Given the description of an element on the screen output the (x, y) to click on. 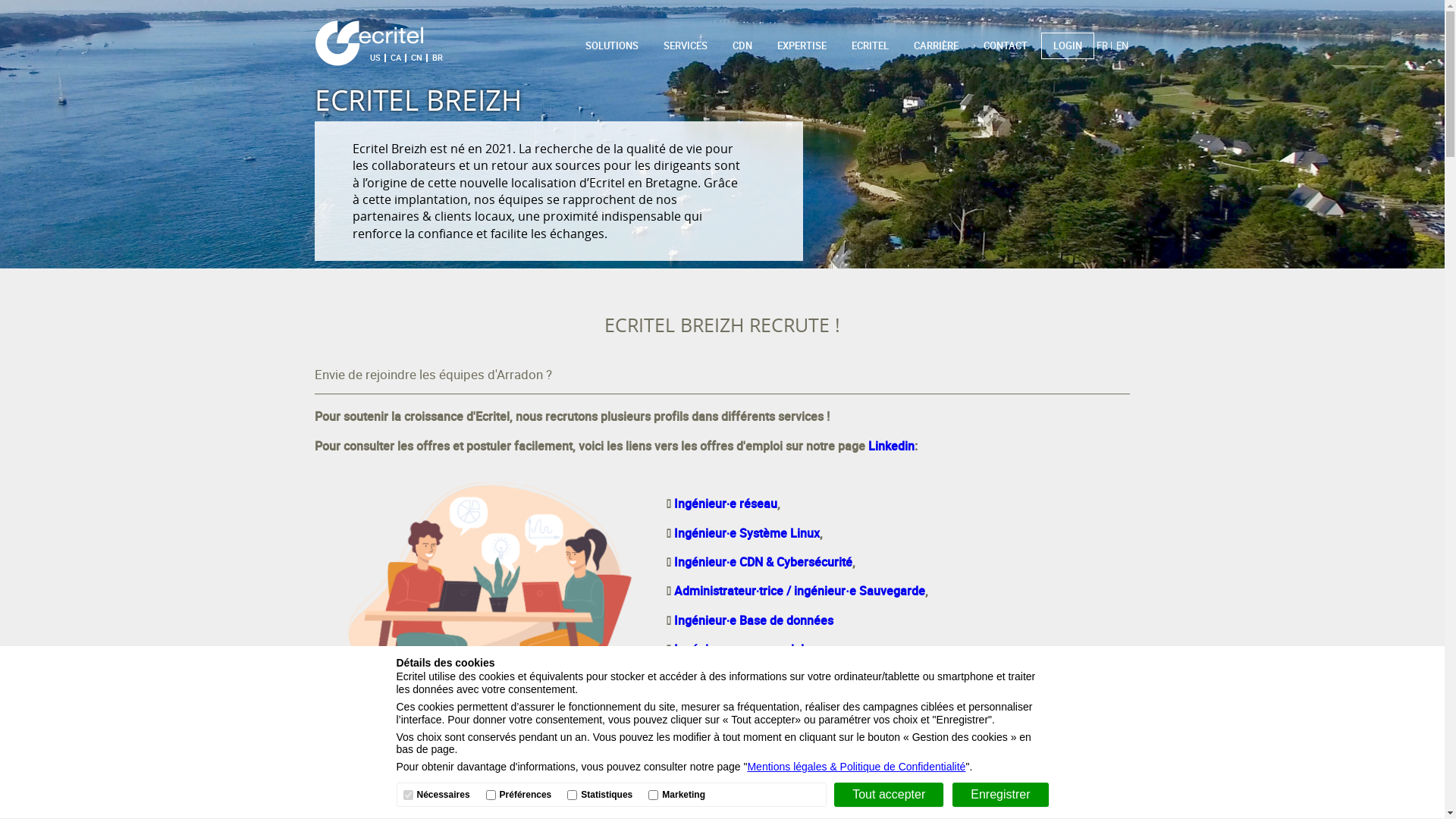
ECRITEL Element type: text (870, 45)
CA Element type: text (395, 57)
CONTACT Element type: text (1005, 45)
LOGIN Element type: text (1067, 45)
EN Element type: text (1121, 45)
Linkedin Element type: text (891, 445)
US Element type: text (375, 57)
Enregistrer Element type: text (1000, 794)
Tout accepter Element type: text (888, 794)
SOLUTIONS Element type: text (611, 45)
CDN Element type: text (742, 45)
CN Element type: text (416, 57)
BR Element type: text (437, 57)
SERVICES Element type: text (685, 45)
job2023@ecritel.net Element type: text (797, 781)
EXPERTISE Element type: text (801, 45)
